Given the description of an element on the screen output the (x, y) to click on. 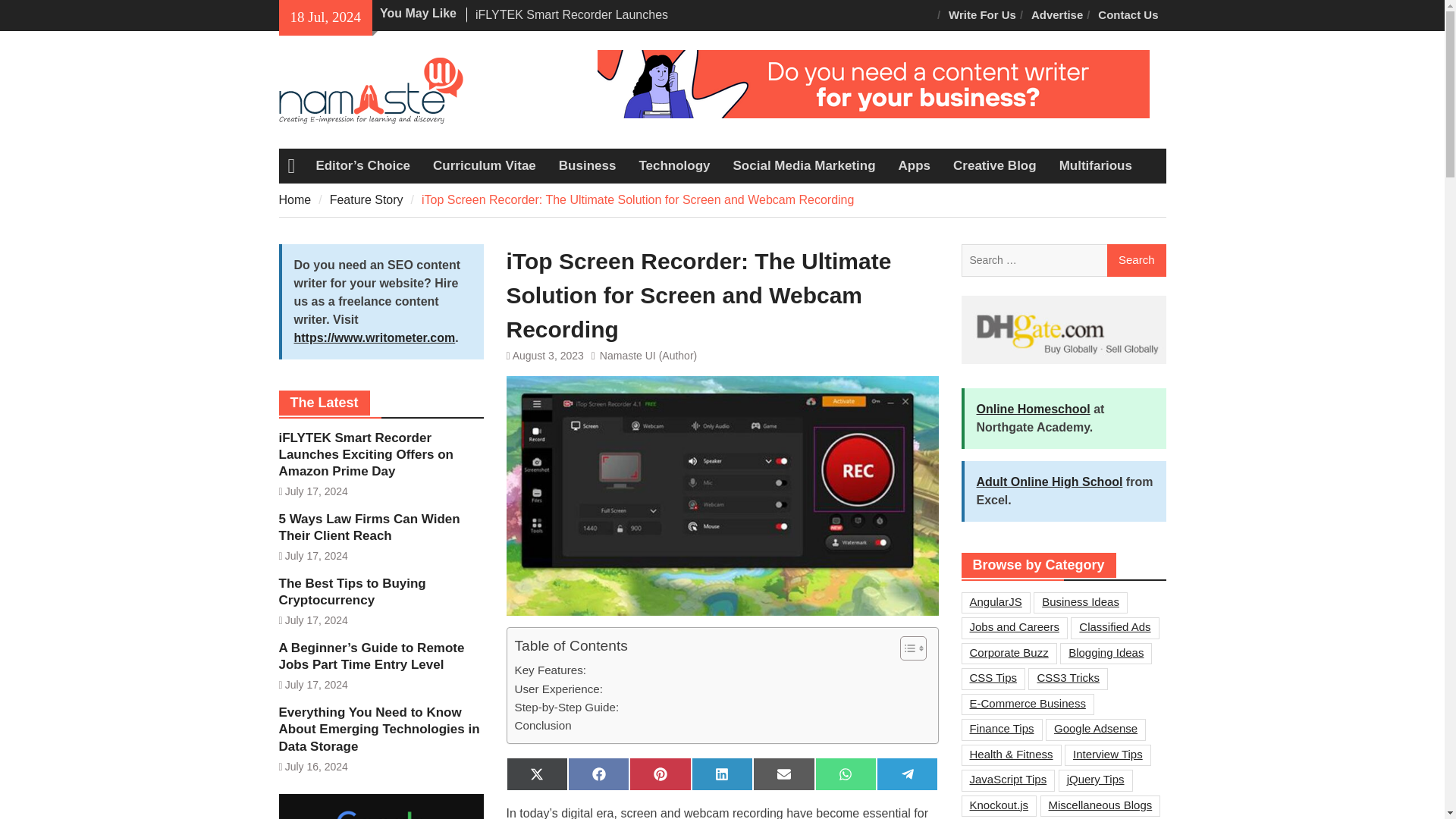
Step-by-Step Guide: (565, 707)
Creative Blog (995, 165)
Technology (673, 165)
Apps (914, 165)
Feature Story (366, 198)
User Experience: (557, 689)
Share on Pinterest (659, 774)
Contact Us (1128, 15)
Social Media Marketing (804, 165)
Multifarious (1095, 165)
Share on Facebook (597, 774)
Technology (673, 165)
Share on Email (782, 774)
Share on Telegram (906, 774)
Search (1136, 260)
